Given the description of an element on the screen output the (x, y) to click on. 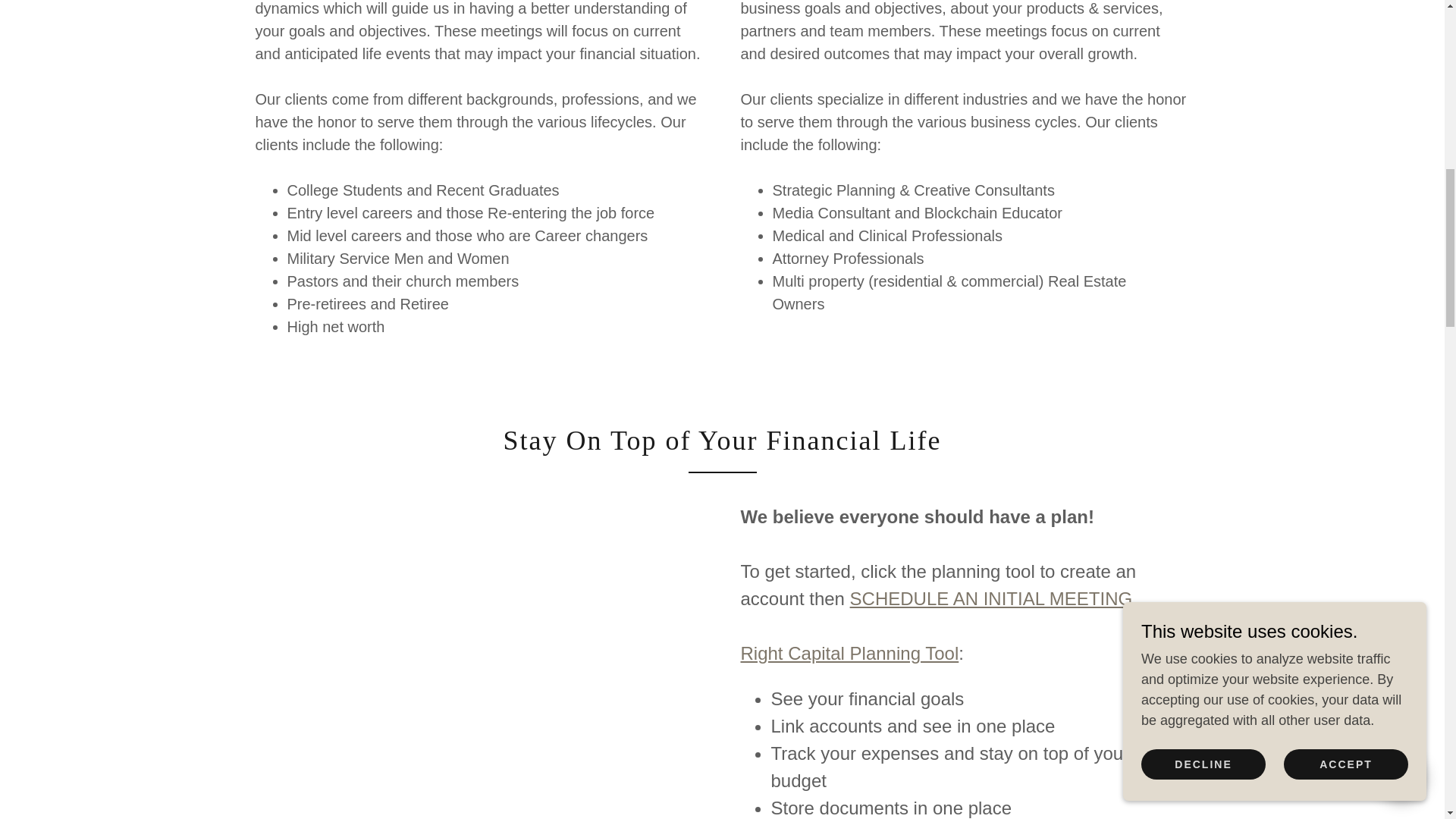
SCHEDULE AN INITIAL MEETING (991, 598)
Right Capital Planning Tool (848, 652)
